Given the description of an element on the screen output the (x, y) to click on. 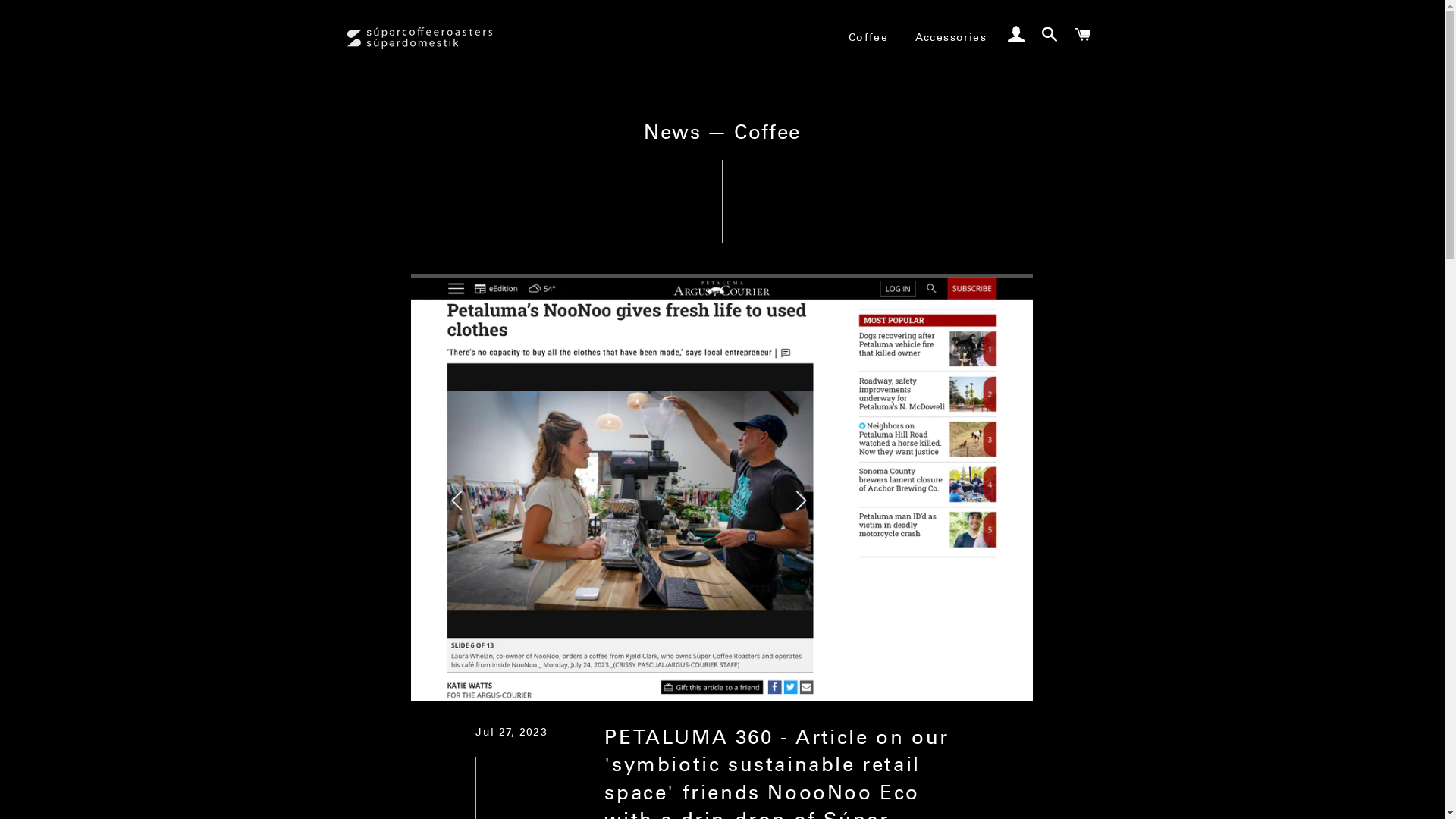
Log In Element type: text (1015, 35)
Cart Element type: text (1082, 35)
Accessories Element type: text (950, 37)
News Element type: text (671, 131)
Coffee Element type: text (868, 37)
Search Element type: text (1049, 35)
